Given the description of an element on the screen output the (x, y) to click on. 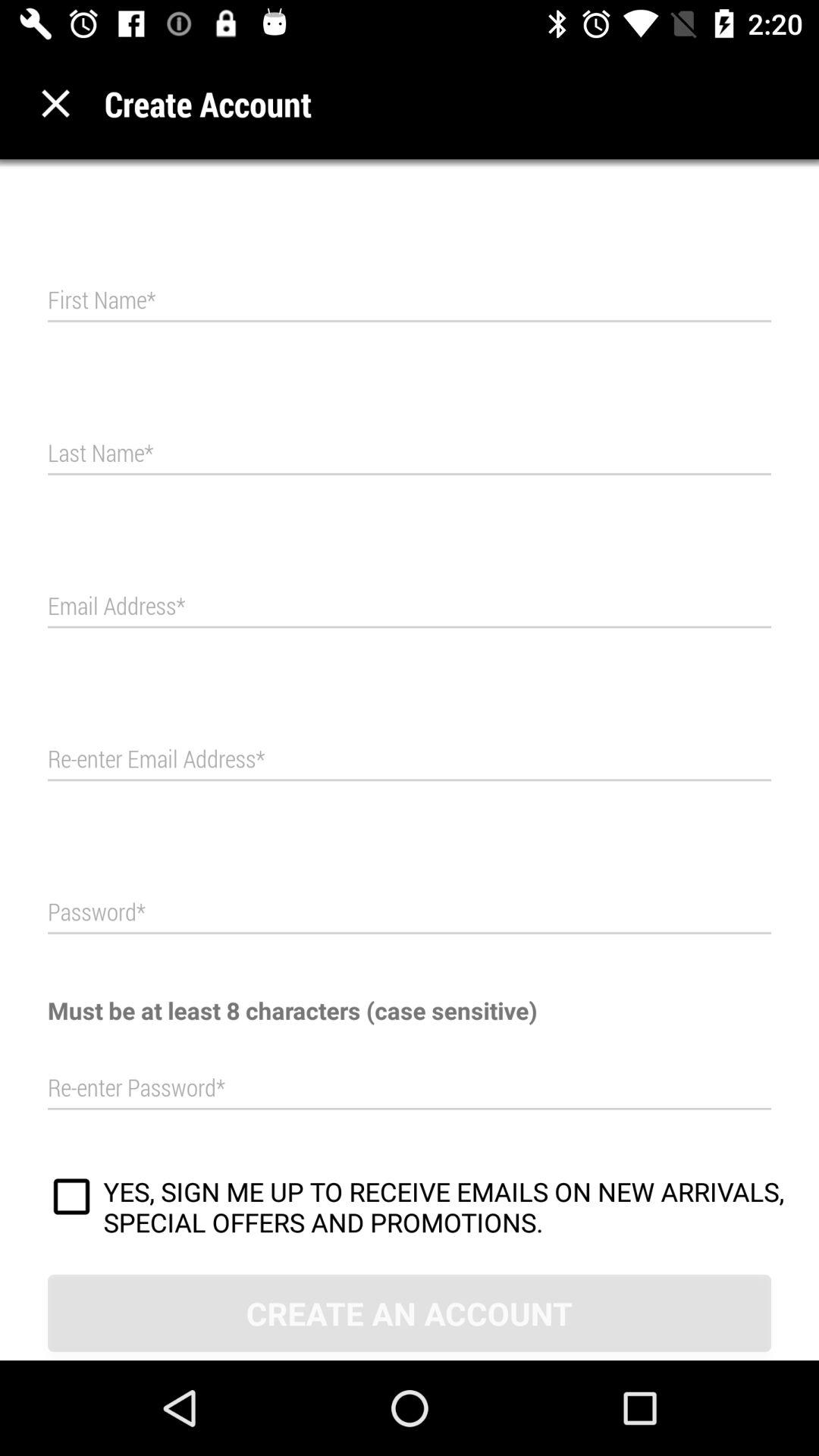
close section (55, 103)
